Given the description of an element on the screen output the (x, y) to click on. 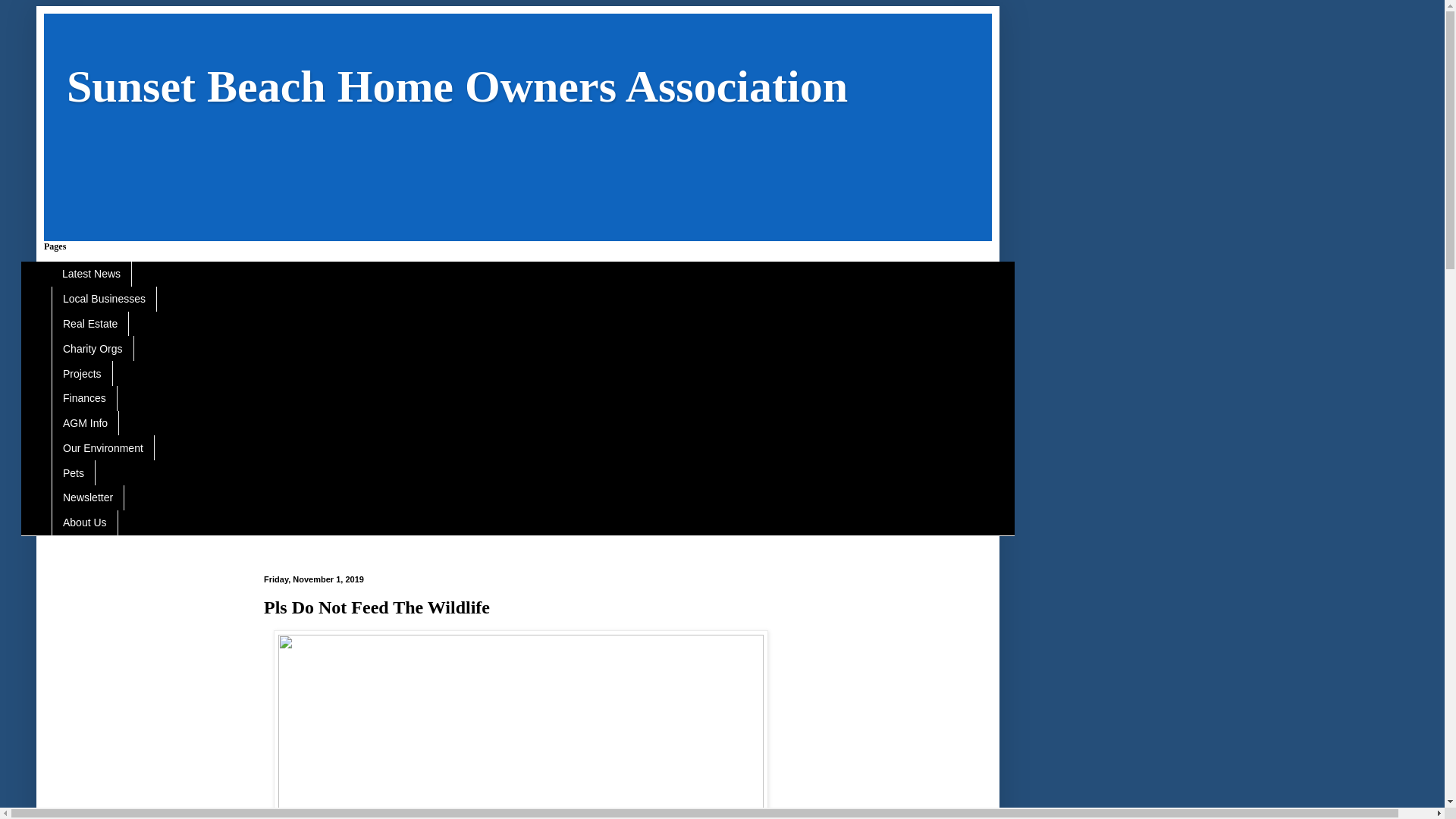
Real Estate (89, 324)
Our Environment (102, 447)
About Us (83, 522)
Sunset Beach Home Owners Association (456, 86)
Local Businesses (103, 299)
Newsletter (86, 497)
Latest News (91, 273)
Charity Orgs (91, 348)
Finances (83, 398)
AGM Info (84, 423)
